Given the description of an element on the screen output the (x, y) to click on. 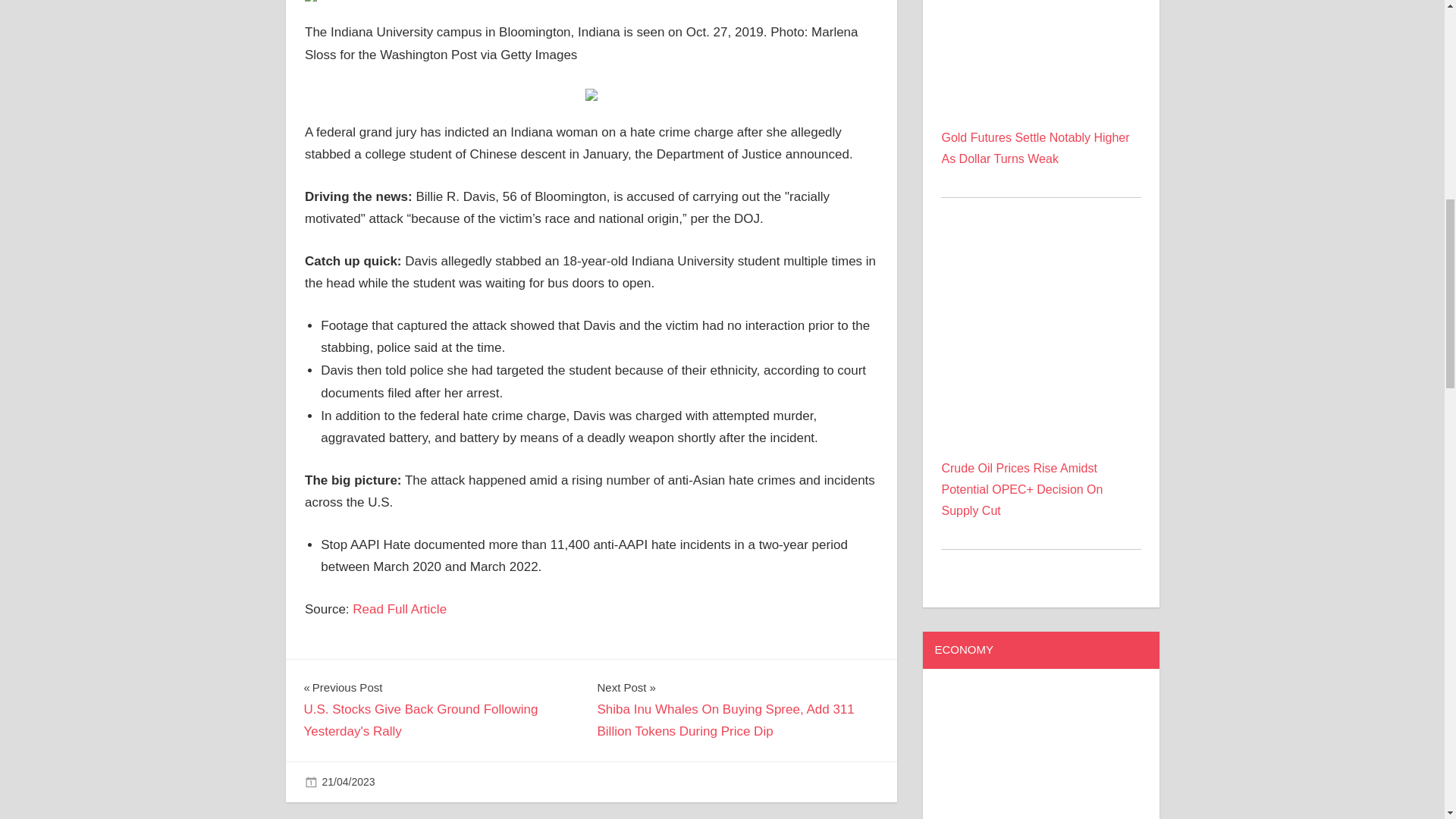
Read Full Article (399, 608)
Gold Futures Settle Notably Higher As Dollar Turns Weak (1040, 53)
Gold Futures Settle Notably Higher As Dollar Turns Weak (1034, 148)
Politics (428, 781)
5:05 pm (347, 781)
